Given the description of an element on the screen output the (x, y) to click on. 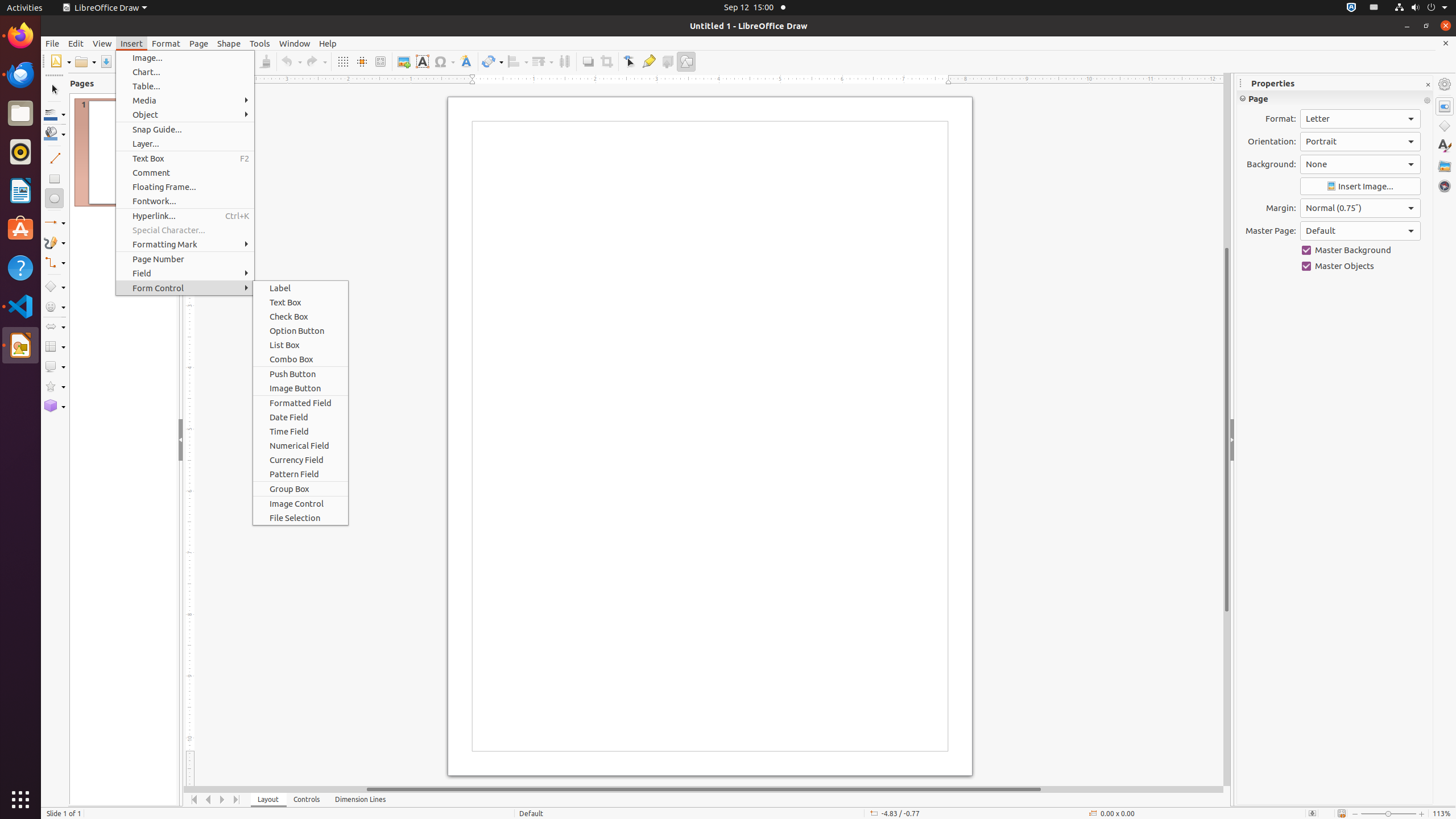
Move Right Element type: push-button (222, 799)
Transformations Element type: push-button (492, 61)
LibreOffice Draw Element type: push-button (20, 344)
Table... Element type: menu-item (185, 86)
Text Box Element type: push-button (421, 61)
